Given the description of an element on the screen output the (x, y) to click on. 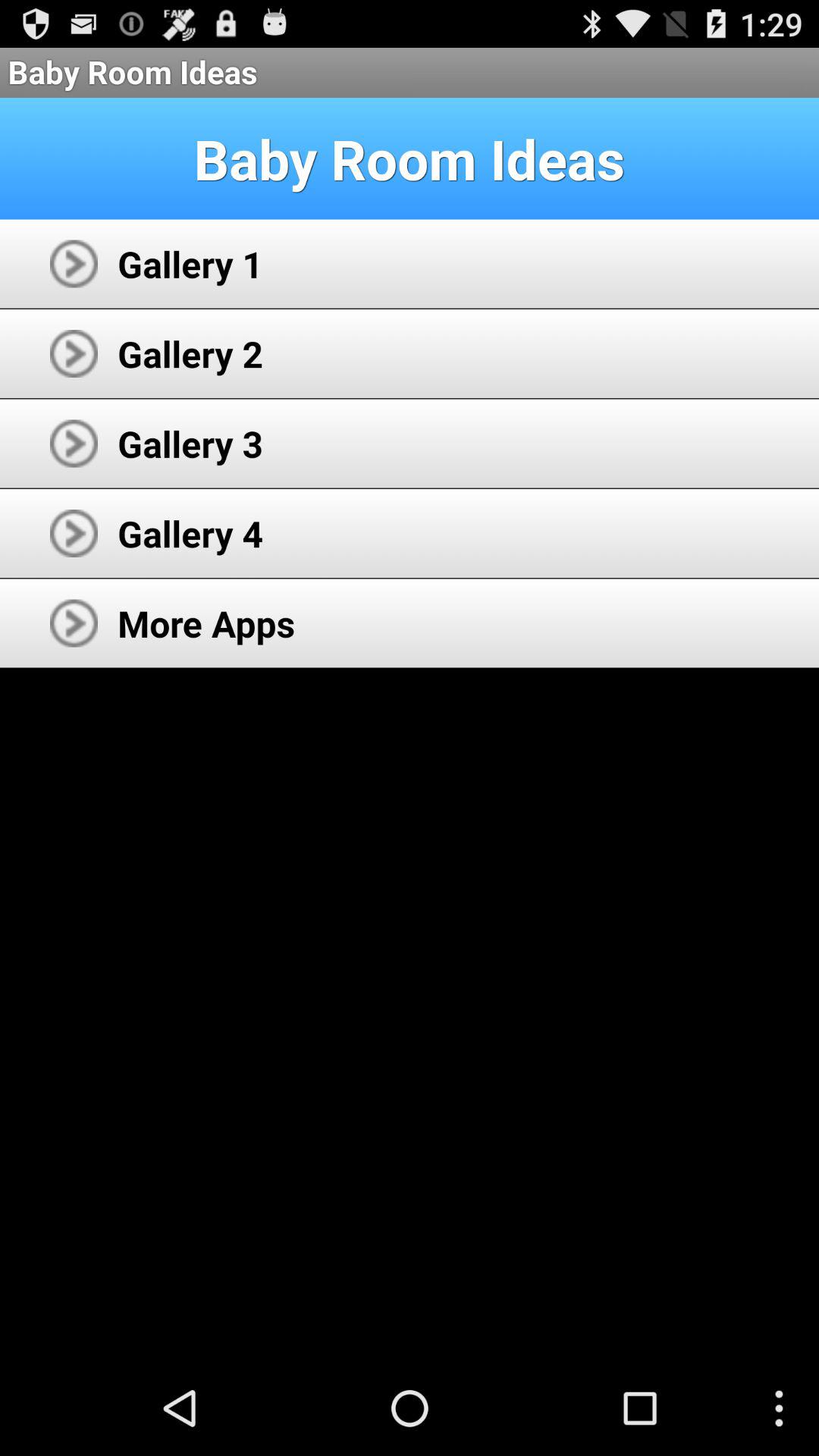
scroll to gallery 1 icon (190, 263)
